Given the description of an element on the screen output the (x, y) to click on. 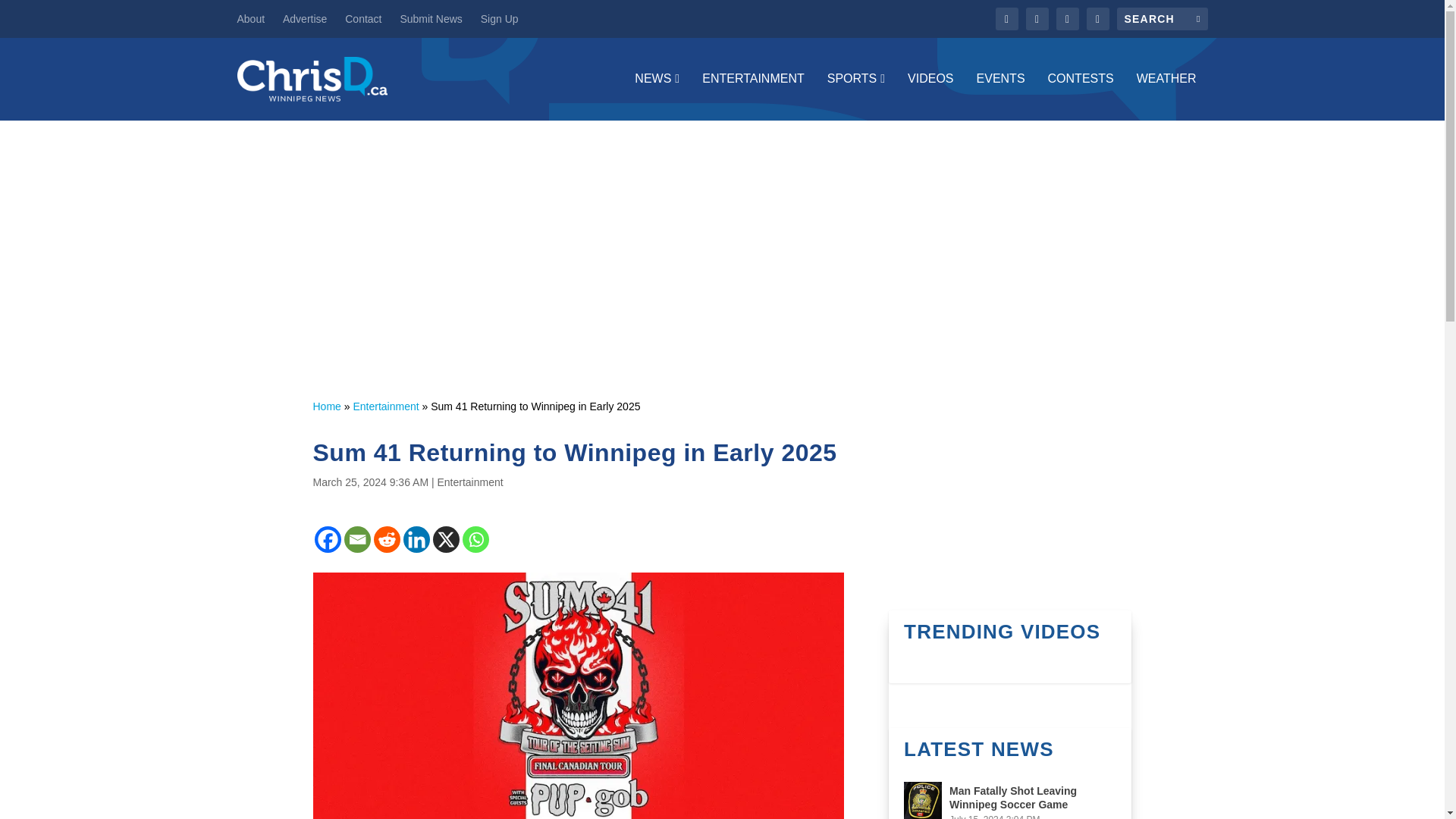
Submit News (429, 18)
SPORTS (856, 96)
Reddit (385, 539)
Email (357, 539)
ENTERTAINMENT (753, 96)
Man Fatally Shot Leaving Winnipeg Soccer Game (923, 800)
Sign Up (499, 18)
Linkedin (416, 539)
Whatsapp (476, 539)
WEATHER (1166, 96)
X (445, 539)
Advertise (304, 18)
Facebook (327, 539)
EVENTS (1000, 96)
Entertainment (469, 481)
